Given the description of an element on the screen output the (x, y) to click on. 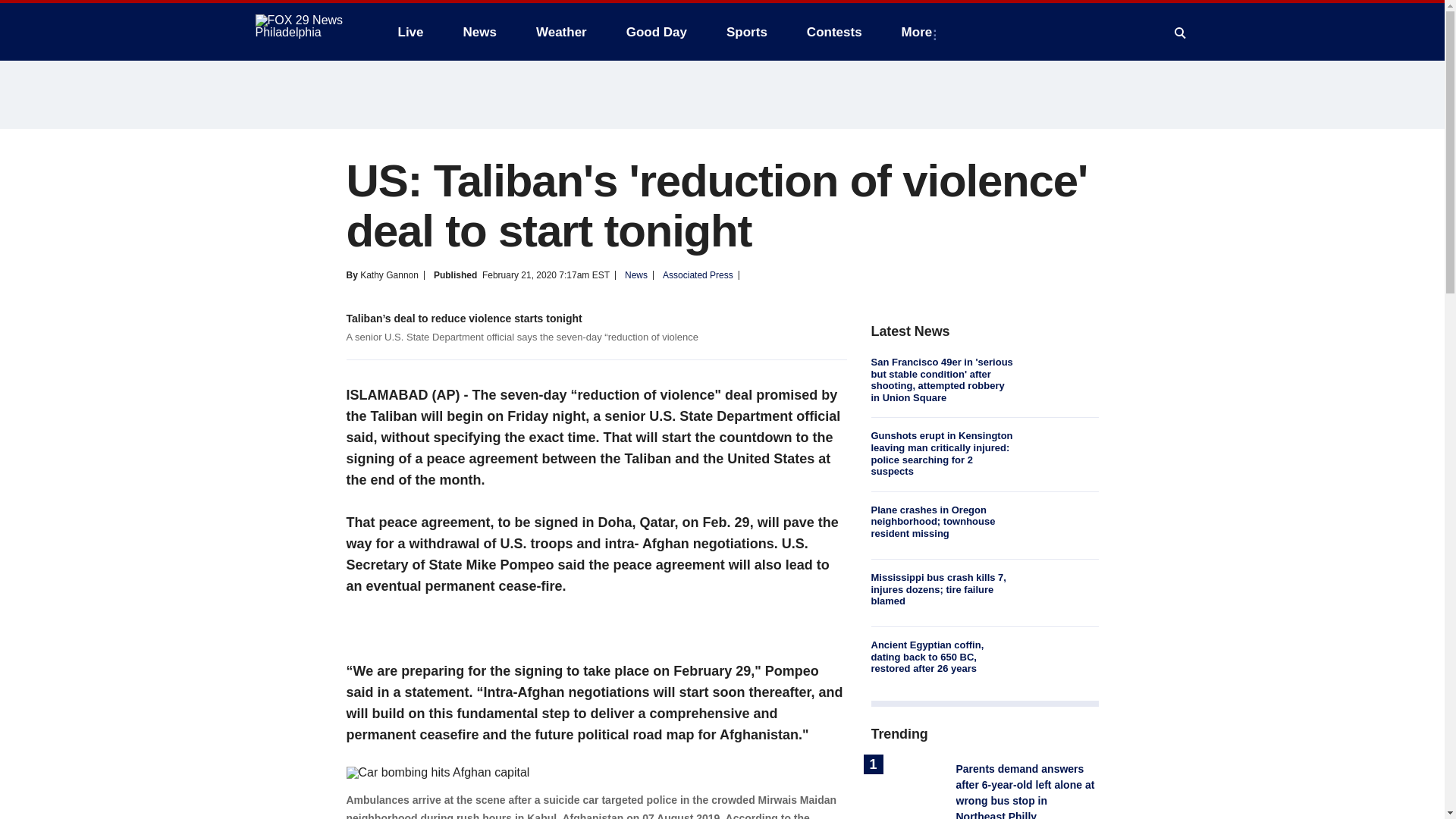
News (479, 32)
Sports (746, 32)
Good Day (656, 32)
Contests (834, 32)
Live (410, 32)
More (919, 32)
Weather (561, 32)
